Given the description of an element on the screen output the (x, y) to click on. 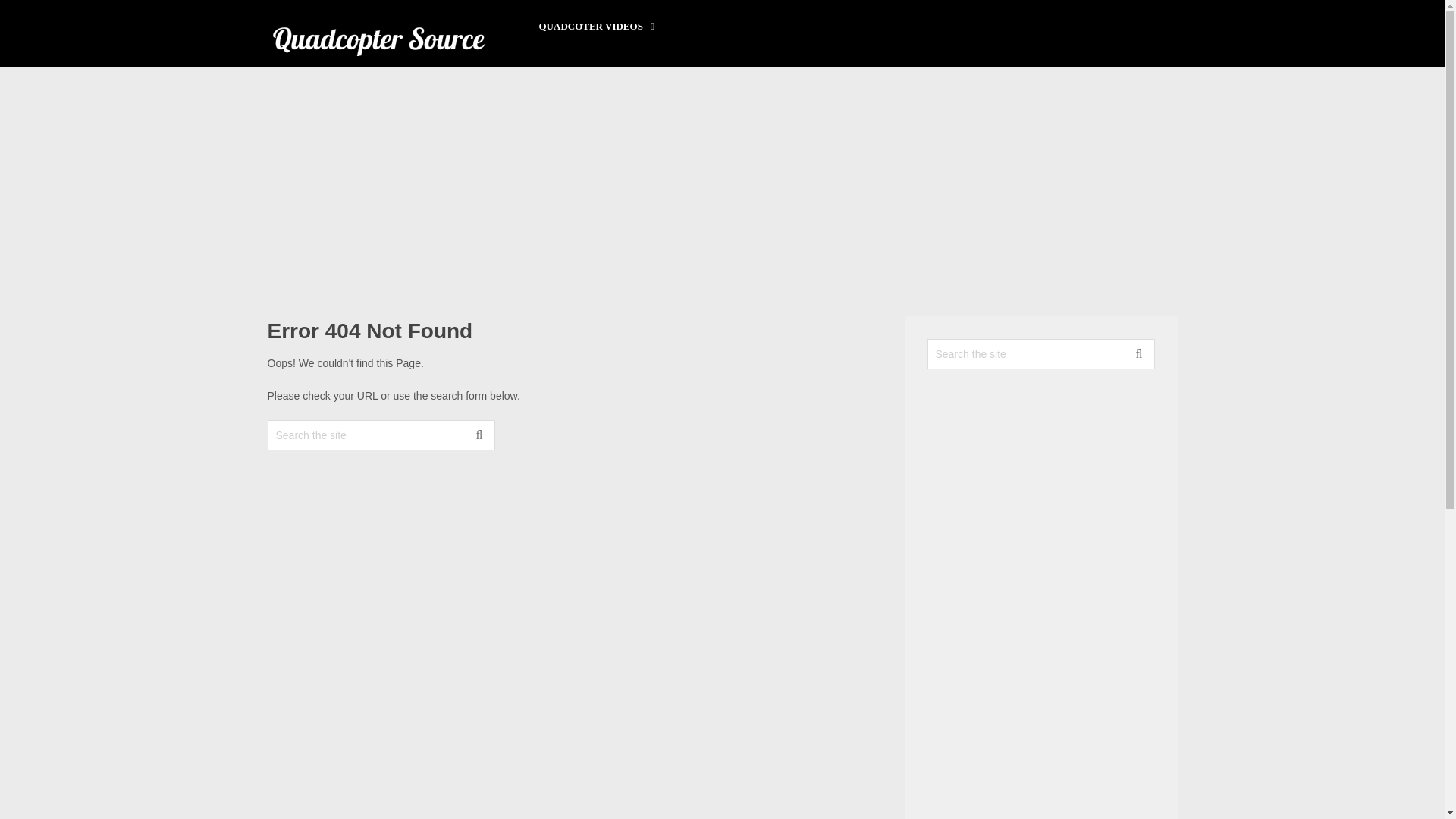
QUADCOTER VIDEOS (596, 26)
